Given the description of an element on the screen output the (x, y) to click on. 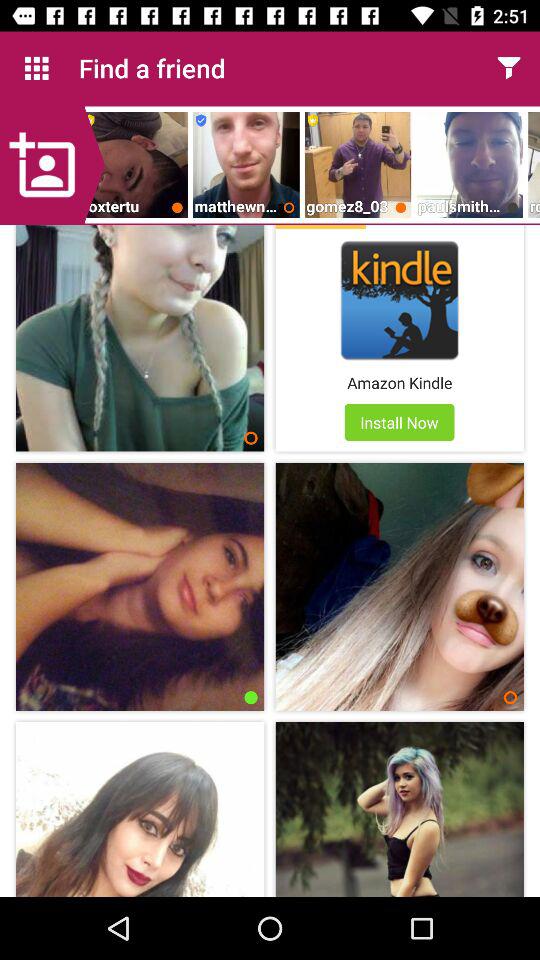
launch app below the amazon kindle app (399, 421)
